Given the description of an element on the screen output the (x, y) to click on. 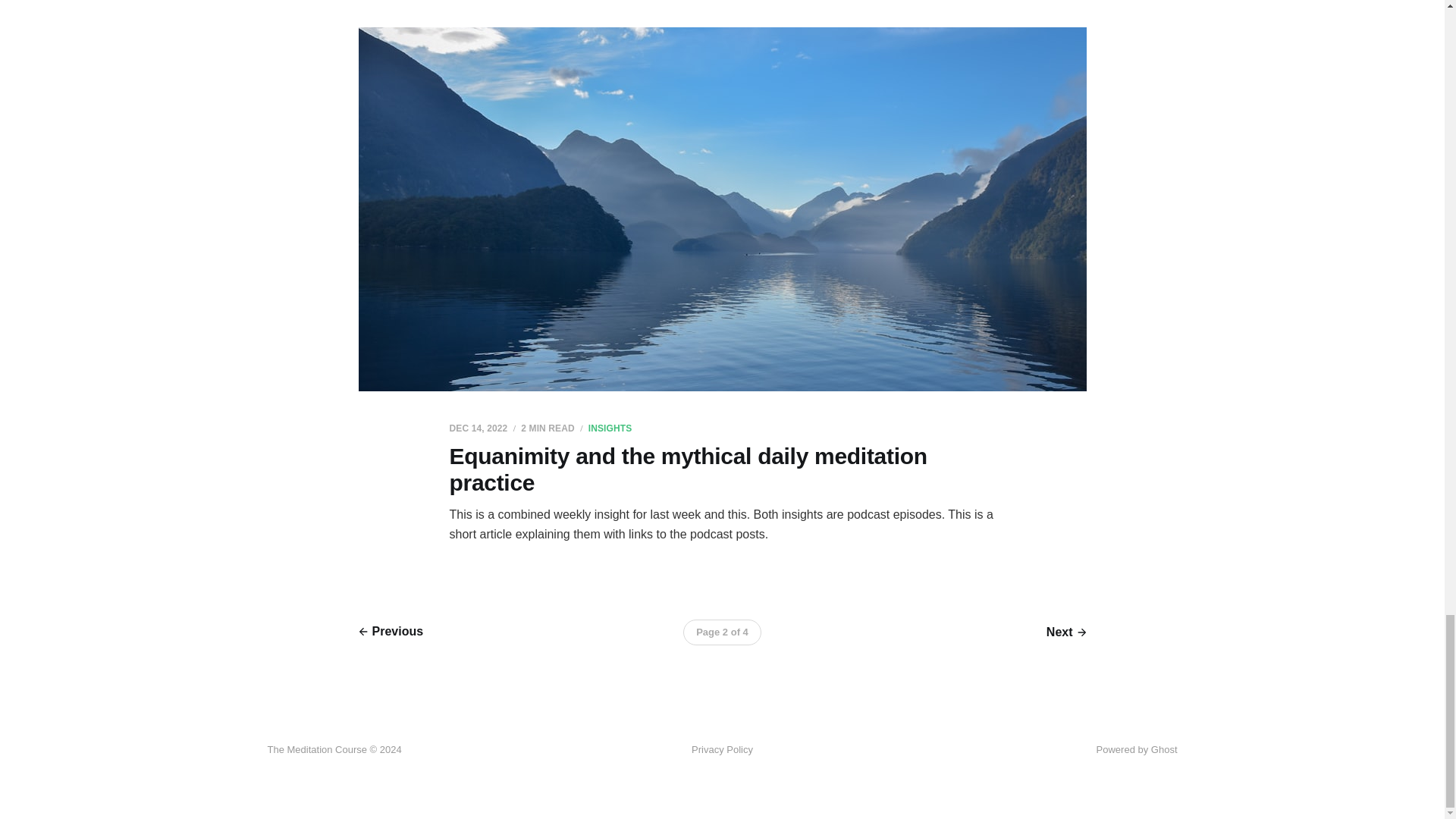
Equanimity and the mythical daily meditation practice (687, 469)
INSIGHTS (609, 428)
Privacy Policy (721, 750)
Powered by Ghost (1136, 749)
Next (1066, 632)
Insights (609, 428)
Previous (390, 631)
